Given the description of an element on the screen output the (x, y) to click on. 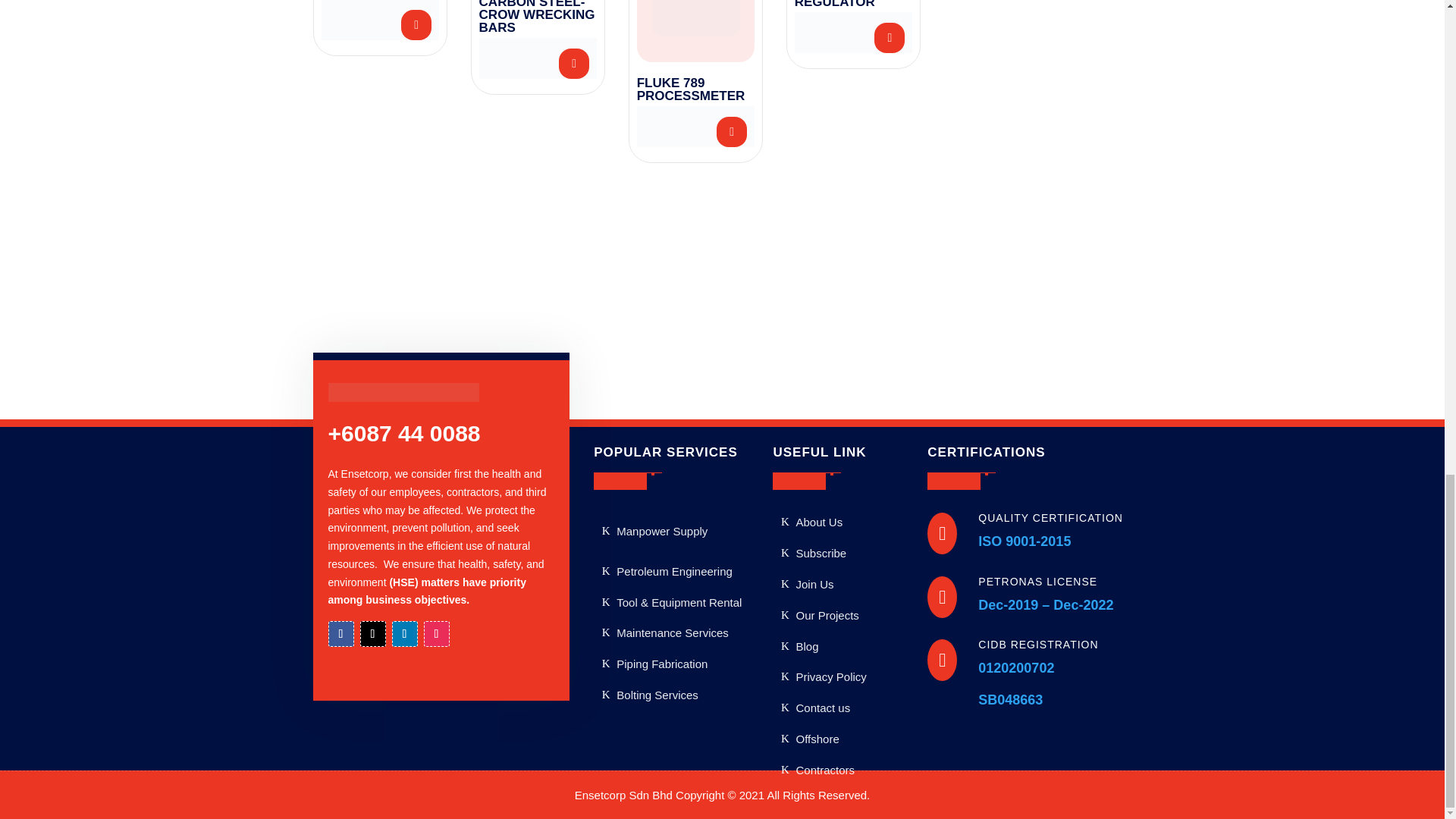
Follow on Facebook (340, 633)
Follow on Instagram (435, 633)
Follow on LinkedIn (403, 633)
Follow on X (372, 633)
Offical Ensetcorp Logo-WHITE (403, 392)
